Given the description of an element on the screen output the (x, y) to click on. 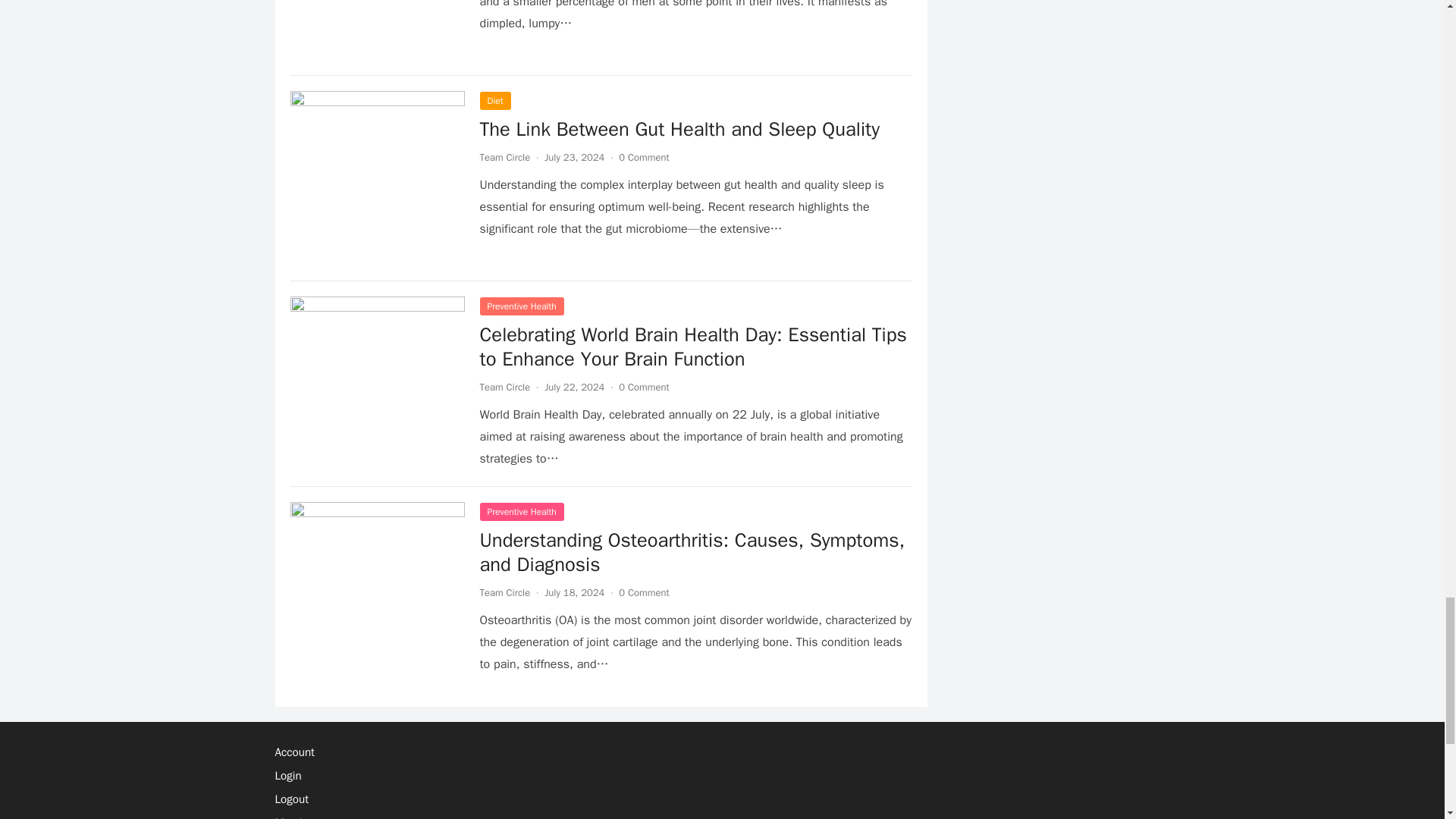
Posts by Team Circle (504, 592)
Posts by Team Circle (504, 386)
Posts by Team Circle (504, 156)
